Given the description of an element on the screen output the (x, y) to click on. 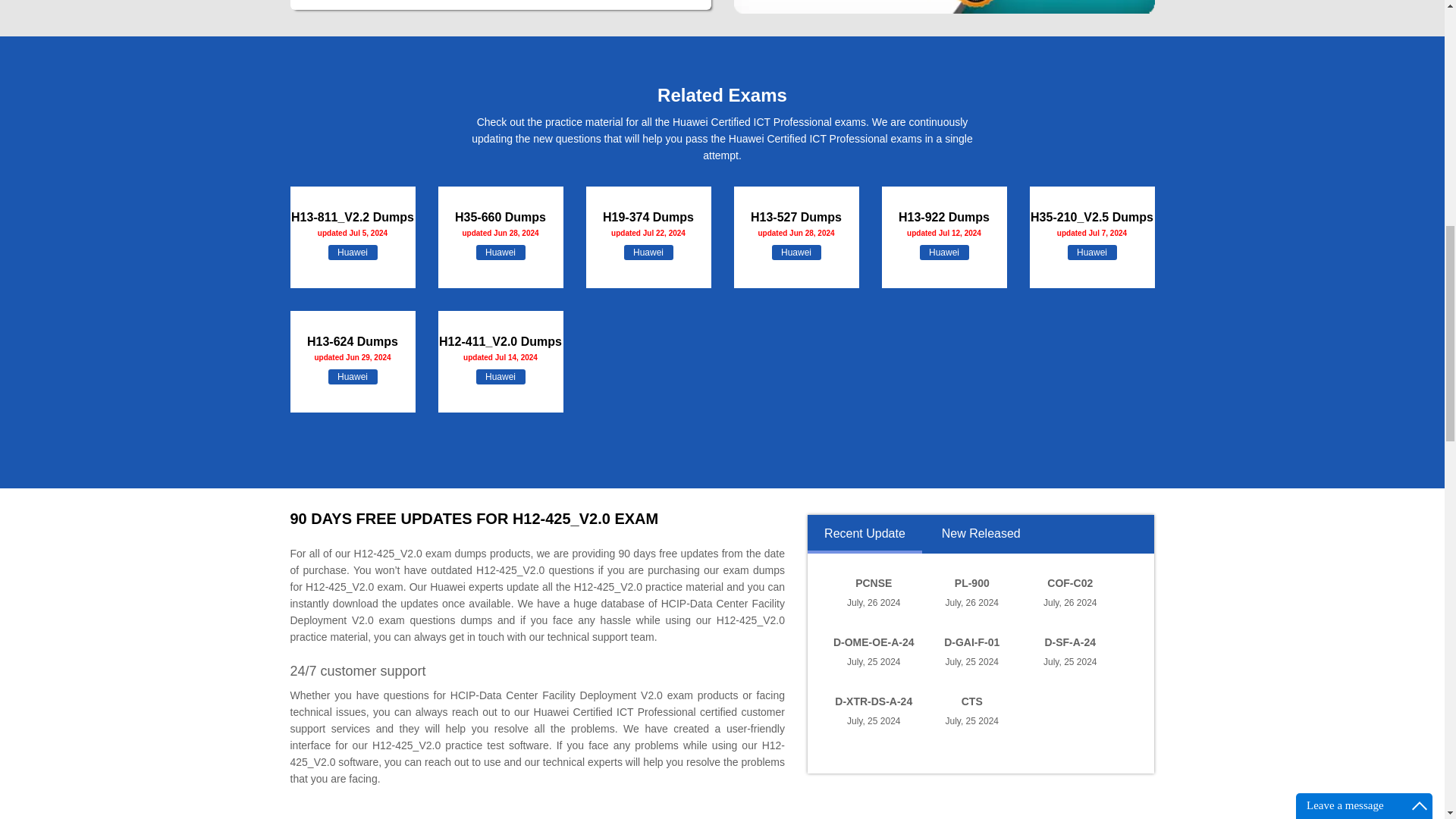
Huawei (500, 376)
New Released (980, 540)
Recent Update (864, 540)
Huawei (796, 252)
Huawei (352, 252)
Huawei (943, 252)
Huawei (352, 376)
Huawei (1091, 252)
PCNSE (873, 582)
Huawei (500, 252)
Huawei (647, 252)
